Given the description of an element on the screen output the (x, y) to click on. 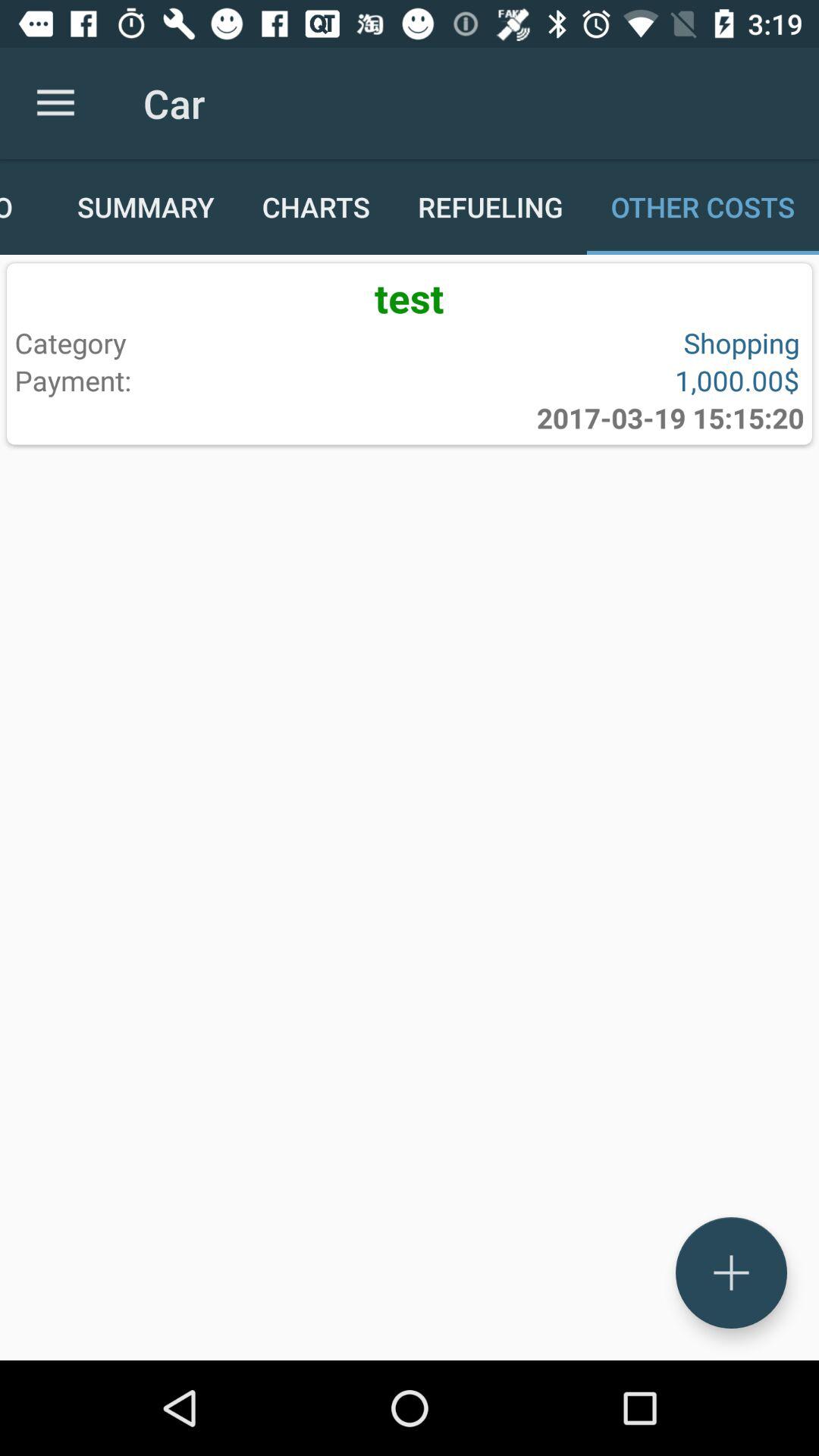
launch icon next to car icon (55, 103)
